Given the description of an element on the screen output the (x, y) to click on. 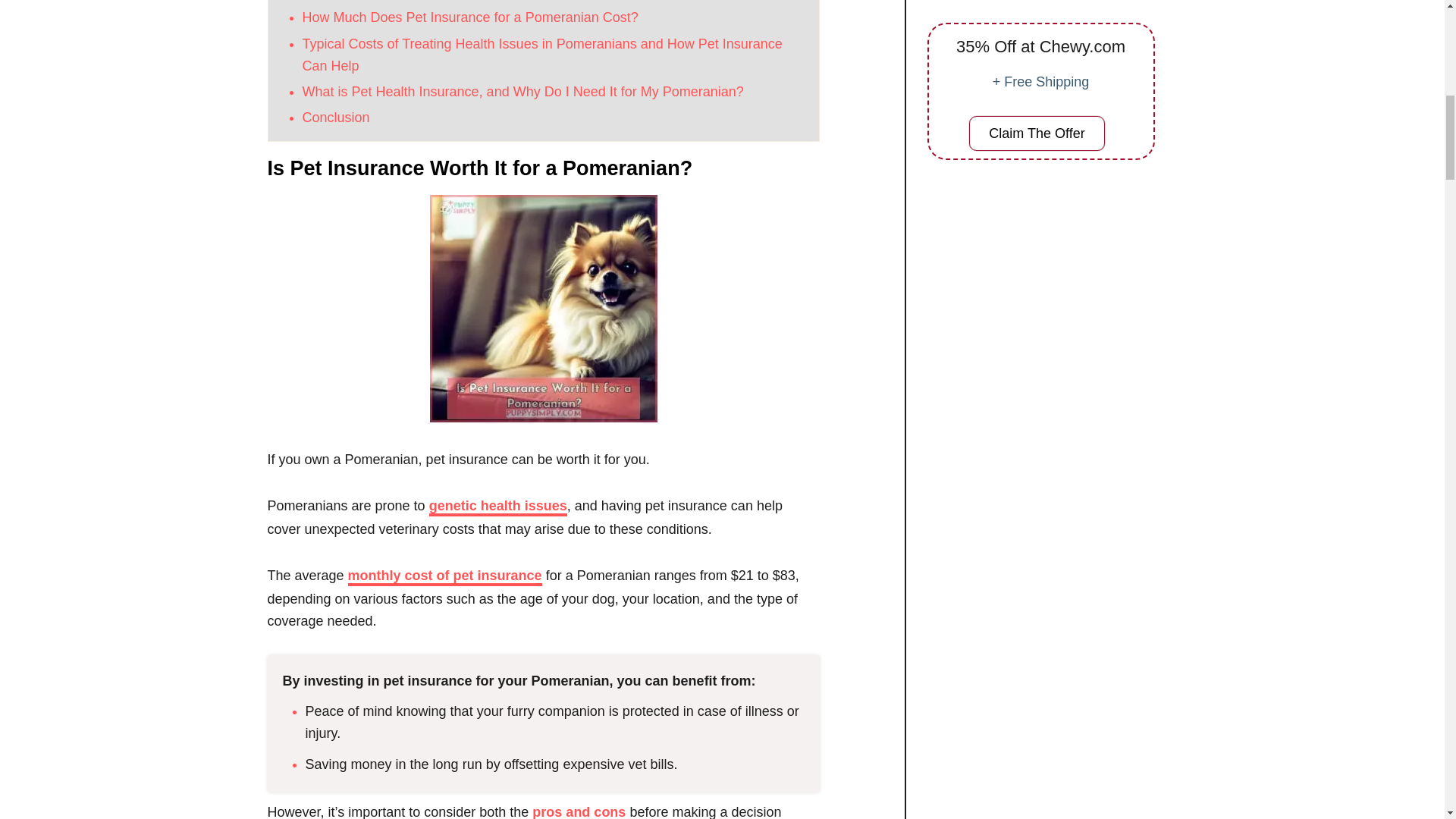
genetic health issues (498, 506)
pros and cons (579, 811)
How Much Does Pet Insurance for a Pomeranian Cost? (469, 17)
genetic health issues (498, 506)
Conclusion (335, 117)
monthly cost of pet insurance (444, 577)
pros and cons (579, 811)
